Given the description of an element on the screen output the (x, y) to click on. 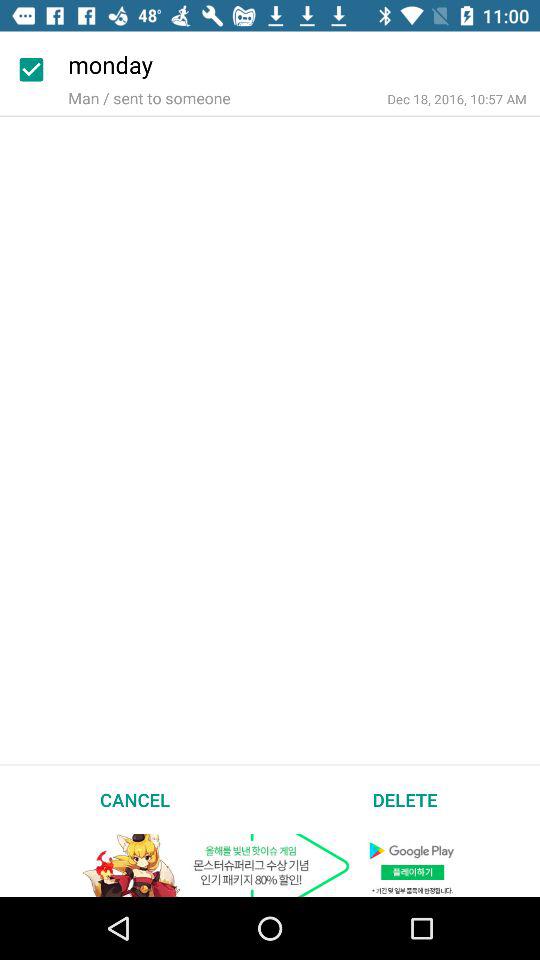
flip until dec 18 2016 icon (456, 98)
